Given the description of an element on the screen output the (x, y) to click on. 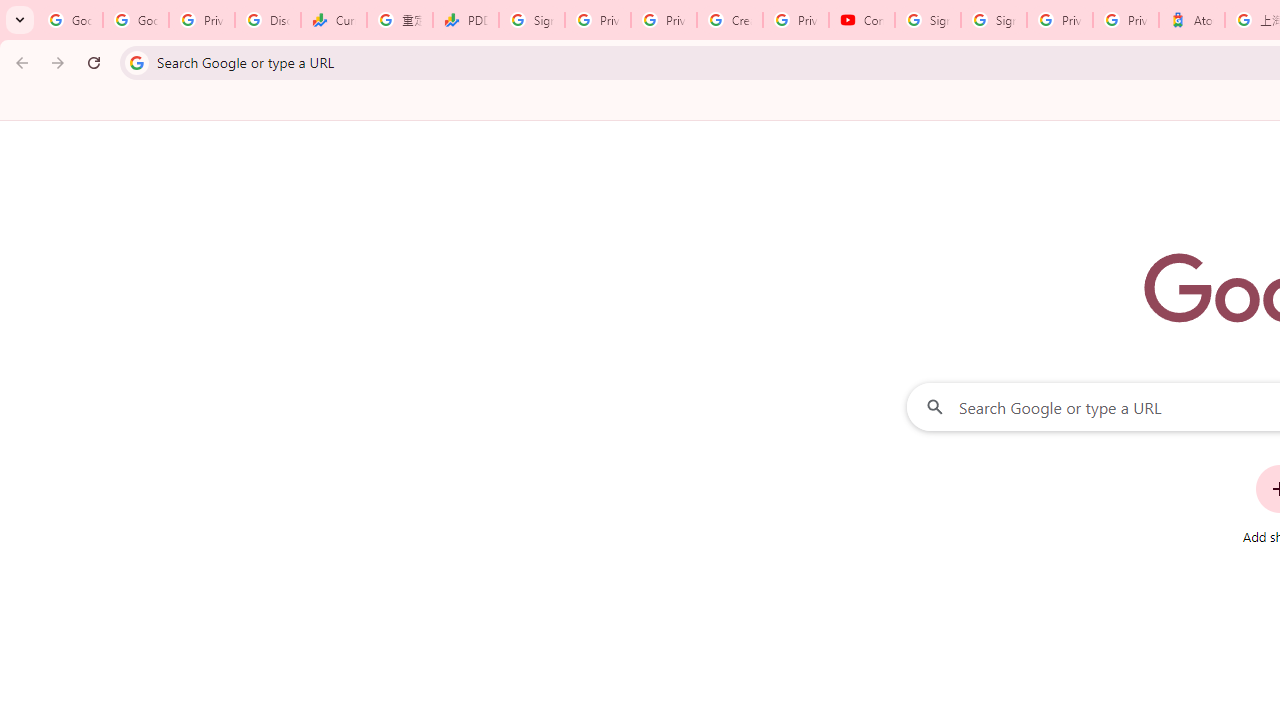
Currencies - Google Finance (333, 20)
Sign in - Google Accounts (531, 20)
Atour Hotel - Google hotels (1191, 20)
Create your Google Account (729, 20)
Content Creator Programs & Opportunities - YouTube Creators (861, 20)
Google Workspace Admin Community (70, 20)
